Given the description of an element on the screen output the (x, y) to click on. 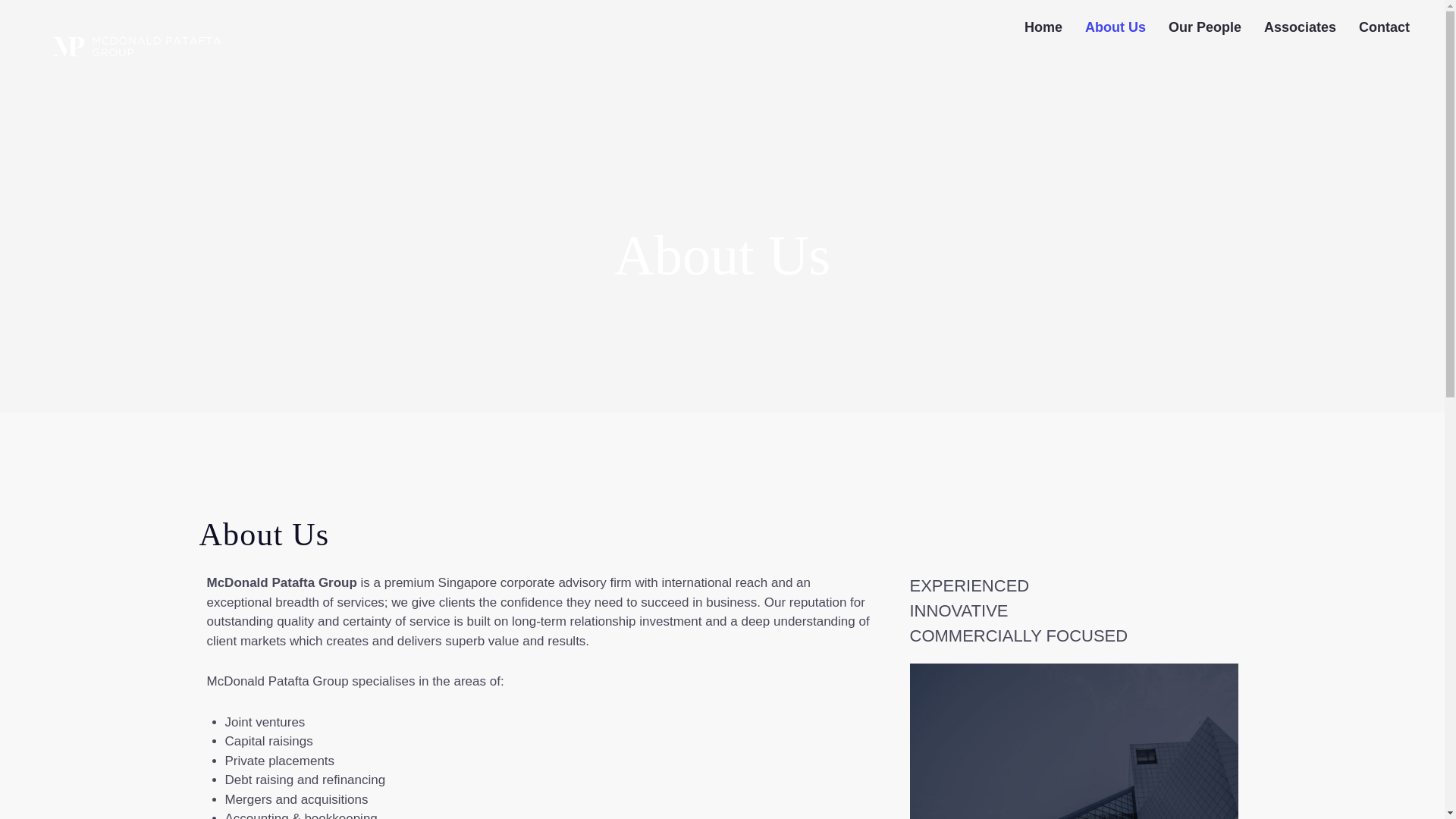
Associates (1300, 27)
Home (1043, 27)
Contact (1384, 27)
About Us (1115, 27)
Our People (1204, 27)
McDonald Patafta Group (136, 47)
